Given the description of an element on the screen output the (x, y) to click on. 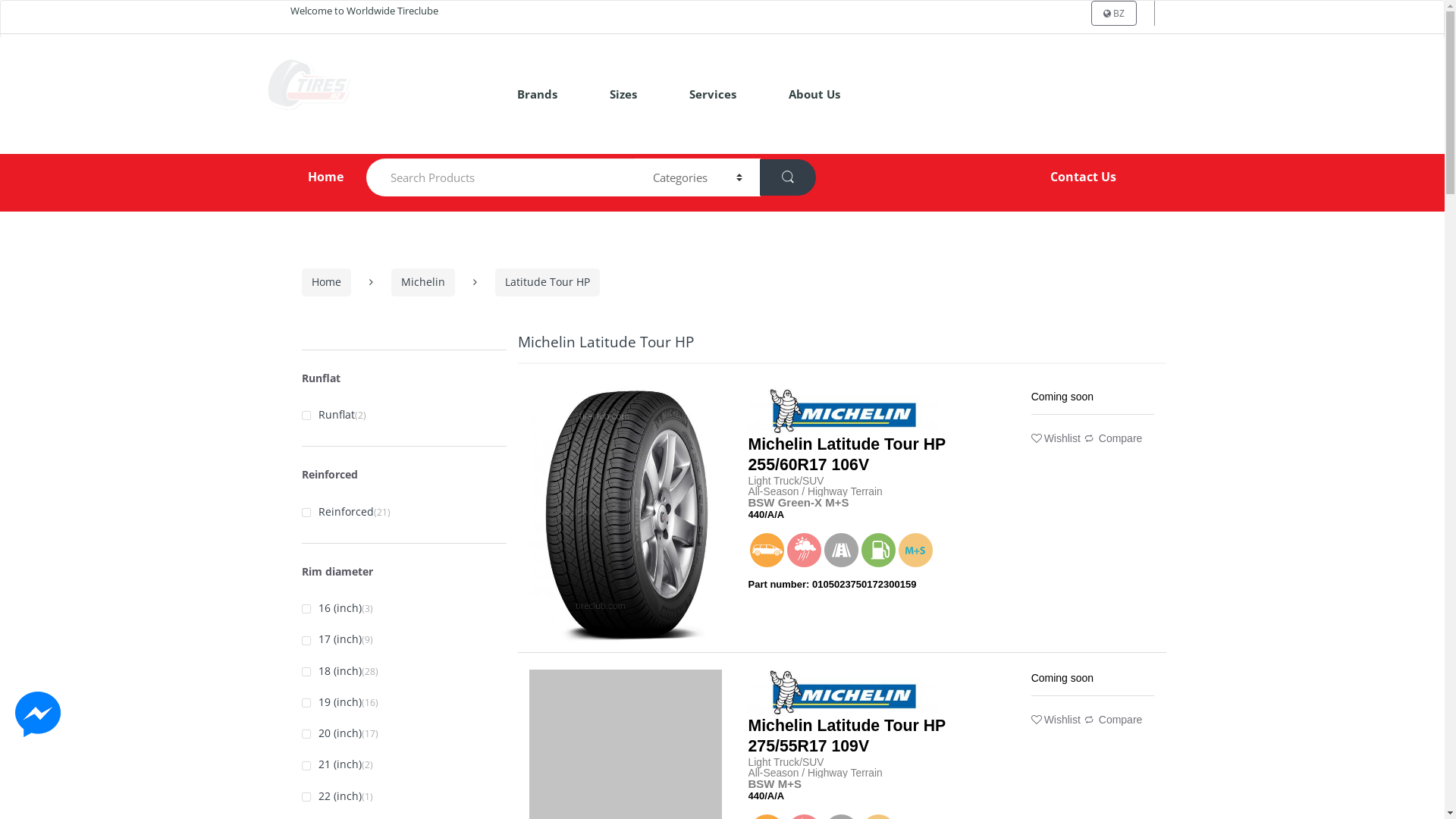
Sizes Element type: text (623, 93)
22 (inch) Element type: text (331, 796)
Compare Element type: text (1112, 719)
Welcome to Worldwide Tireclube Element type: text (363, 10)
20 (inch) Element type: text (331, 733)
BZ Element type: text (1112, 12)
About Us Element type: text (814, 93)
Brands Element type: text (536, 93)
Michelin Latitude Tour HP
275/55R17 109V Element type: text (846, 735)
Latitude Tour HP Element type: text (546, 282)
Home Element type: text (304, 176)
Michelin Latitude Tour HP tires Element type: hover (625, 516)
17 (inch) Element type: text (331, 639)
Michelin tires Element type: hover (842, 411)
Services Element type: text (712, 93)
Runflat Element type: text (327, 414)
Home Element type: text (326, 282)
Contact Us Element type: text (1082, 176)
19 (inch) Element type: text (331, 702)
Michelin Latitude Tour HP
255/60R17 106V Element type: text (846, 454)
Wishlist Element type: text (1055, 719)
Michelin Element type: text (423, 282)
Wishlist Element type: text (1055, 438)
21 (inch) Element type: text (331, 764)
18 (inch) Element type: text (331, 671)
16 (inch) Element type: text (331, 608)
Michelin tires Element type: hover (842, 692)
Compare Element type: text (1112, 438)
